Given the description of an element on the screen output the (x, y) to click on. 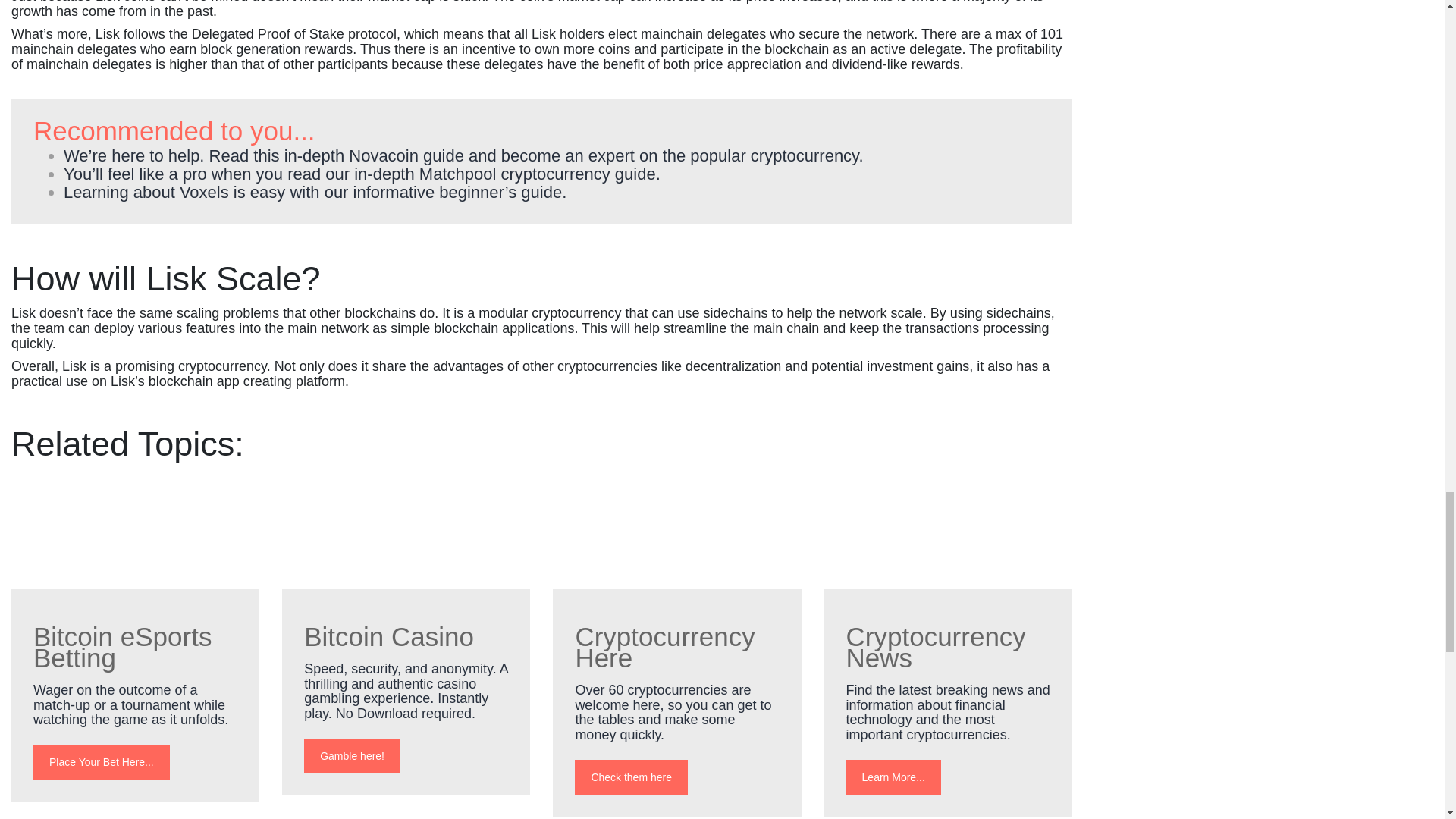
Americascardroom: Bitcoin eSports (135, 536)
Bitcoin Casino (389, 636)
Americascardroom: Bitcoin Casino (405, 536)
Place Your Bet Here... (101, 761)
Bitcoin eSports Betting (122, 646)
Gamble here! (352, 755)
